Given the description of an element on the screen output the (x, y) to click on. 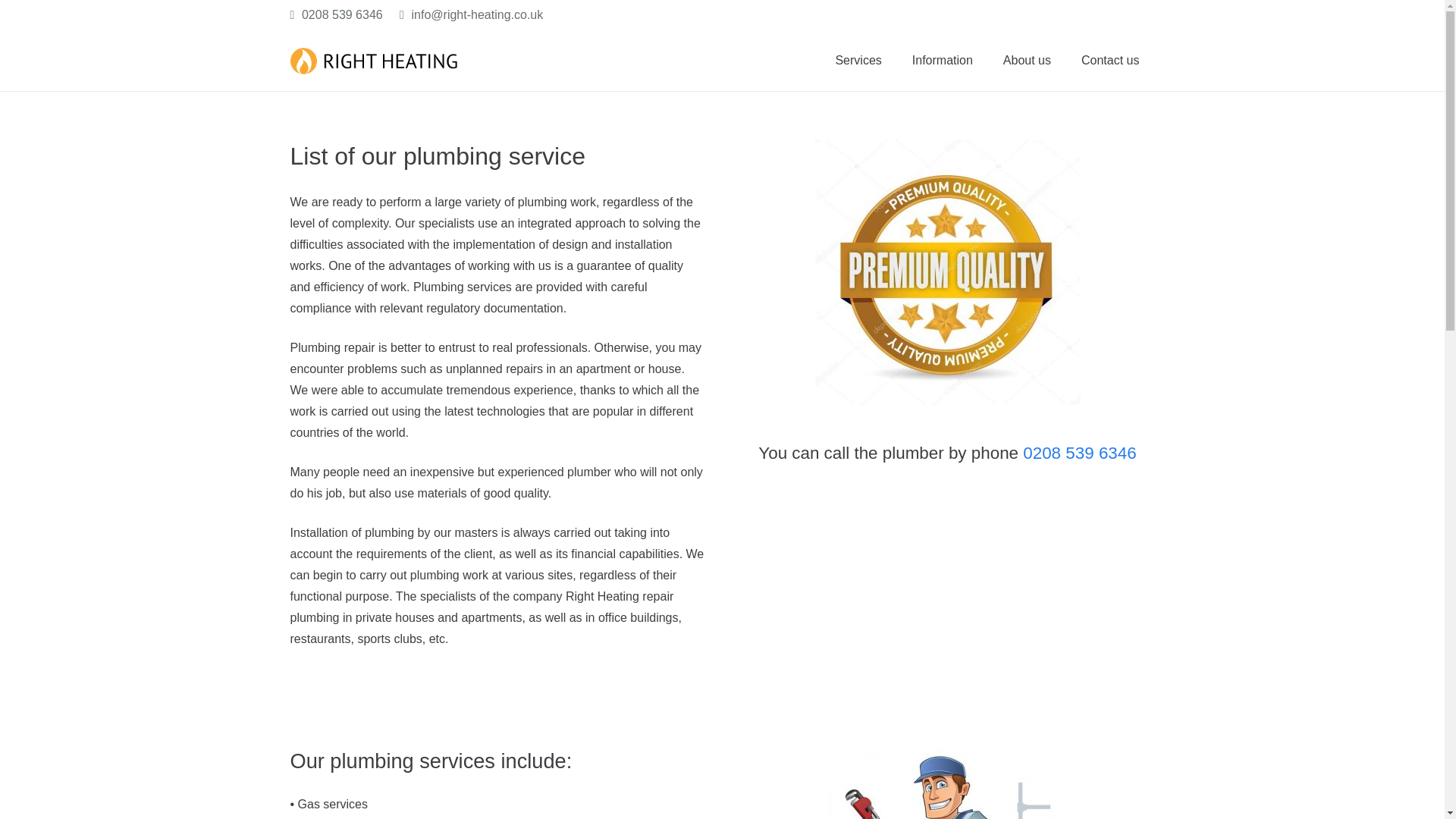
0208 539 6346 (335, 14)
Information (942, 60)
Services (857, 60)
0208 539 6346 (1079, 452)
Contact us (1109, 60)
About us (1026, 60)
